Given the description of an element on the screen output the (x, y) to click on. 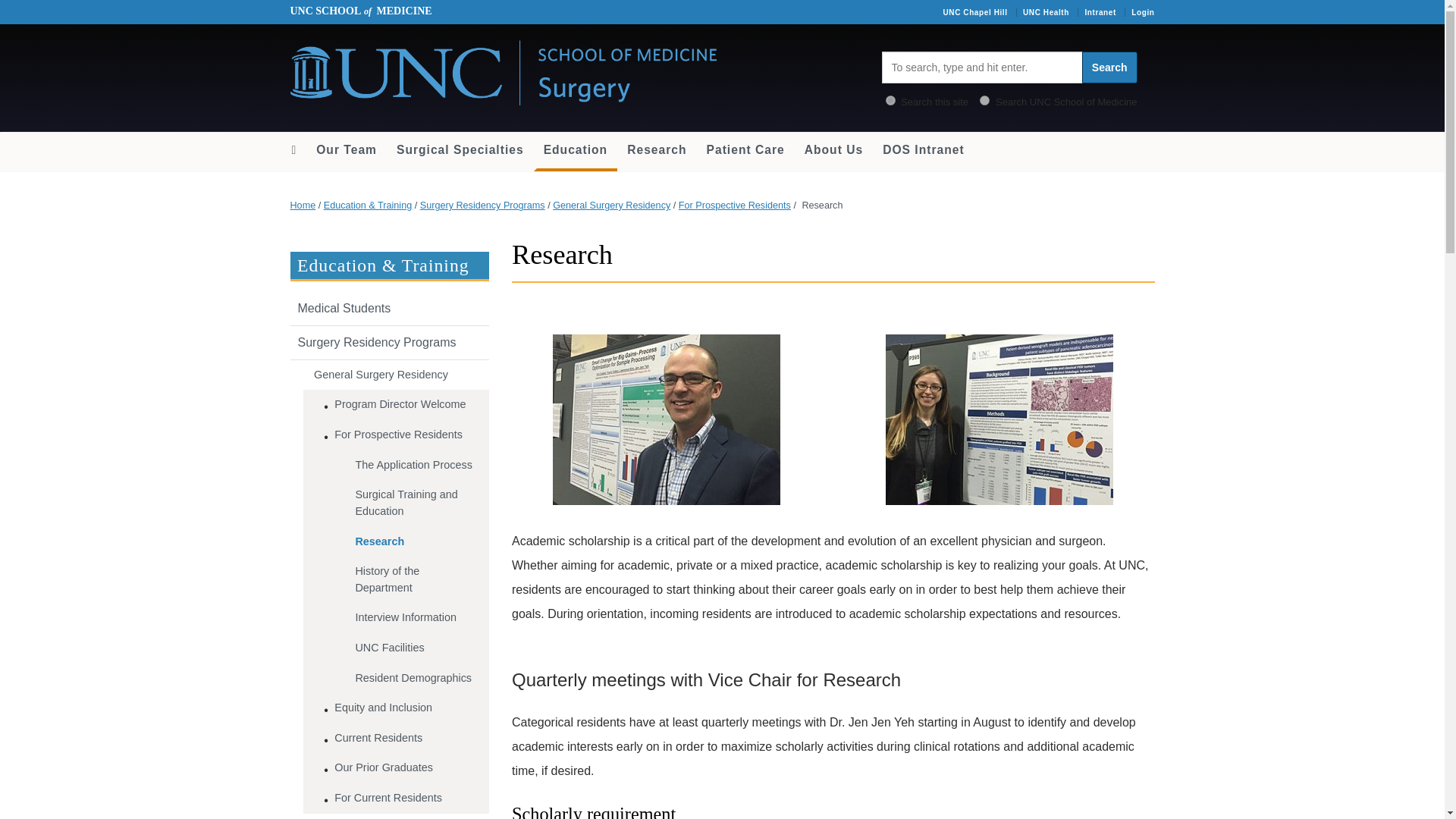
Intranet (1099, 12)
Search (1109, 67)
Advancing Medical Science (656, 149)
General Surgery Residency (395, 375)
wp (890, 100)
Home (302, 204)
Surgical Specialties (460, 149)
Department of Surgery (502, 70)
Research (416, 542)
UNC Chapel Hill (974, 12)
